Given the description of an element on the screen output the (x, y) to click on. 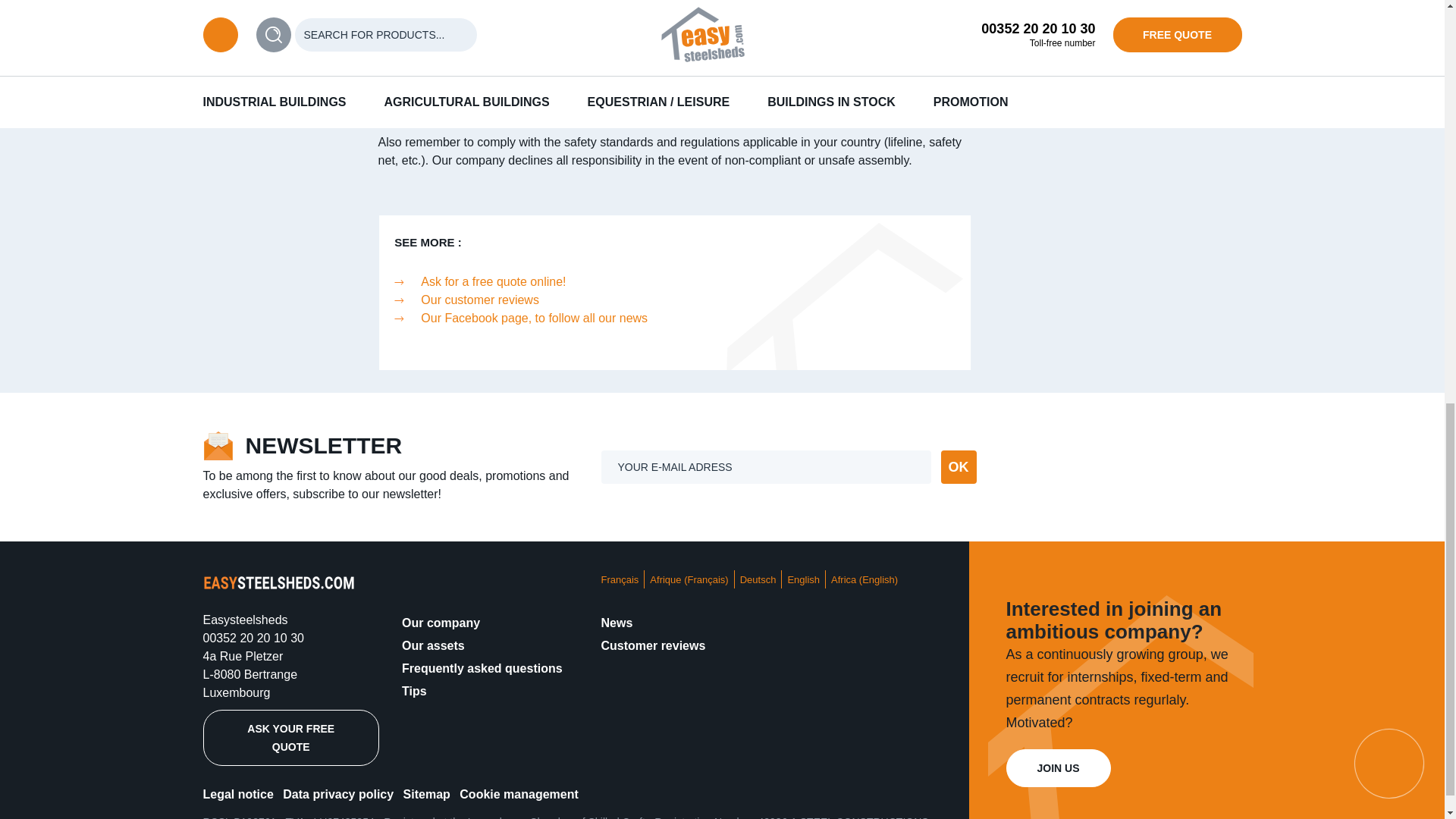
Our company (440, 622)
OK (957, 467)
Ask for a free quote online! (493, 281)
JOIN US (1057, 768)
ASK YOUR FREE QUOTE (291, 737)
Customer reviews (651, 645)
Sitemap (426, 793)
Our Facebook page, to follow all our news (533, 318)
Our customer reviews (479, 299)
Legal notice (238, 793)
OK (957, 467)
Cookie management (519, 793)
Our assets (432, 645)
Frequently asked questions (481, 667)
News (615, 622)
